Given the description of an element on the screen output the (x, y) to click on. 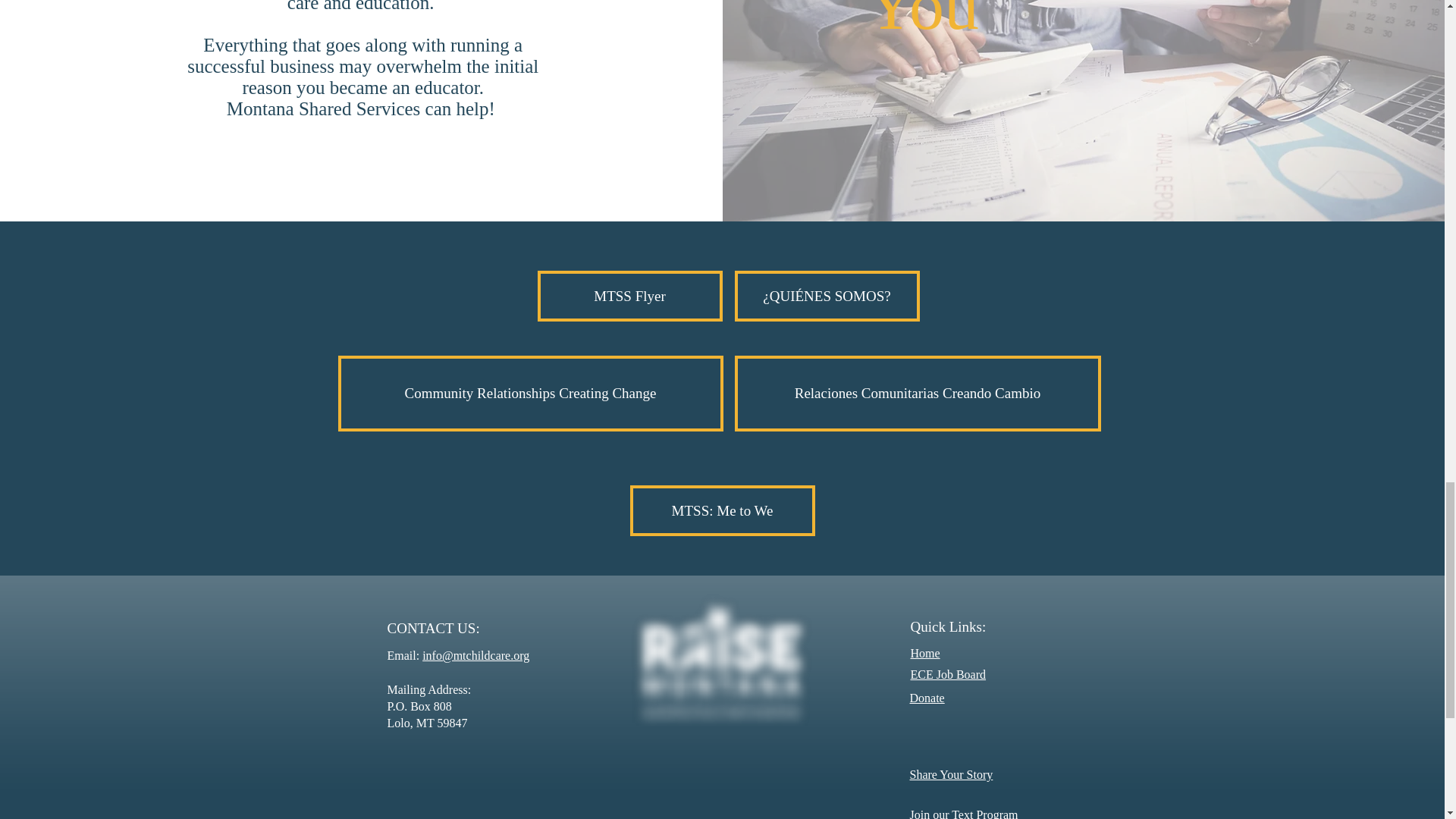
Join our Text Program (963, 813)
Community Relationships Creating Change (530, 393)
Relaciones Comunitarias Creando Cambio (916, 393)
MTSS: Me to We (720, 510)
MTSS Flyer (629, 296)
Donate (927, 697)
Home (924, 653)
ECE Job Board (947, 674)
Share Your Story (951, 774)
